Given the description of an element on the screen output the (x, y) to click on. 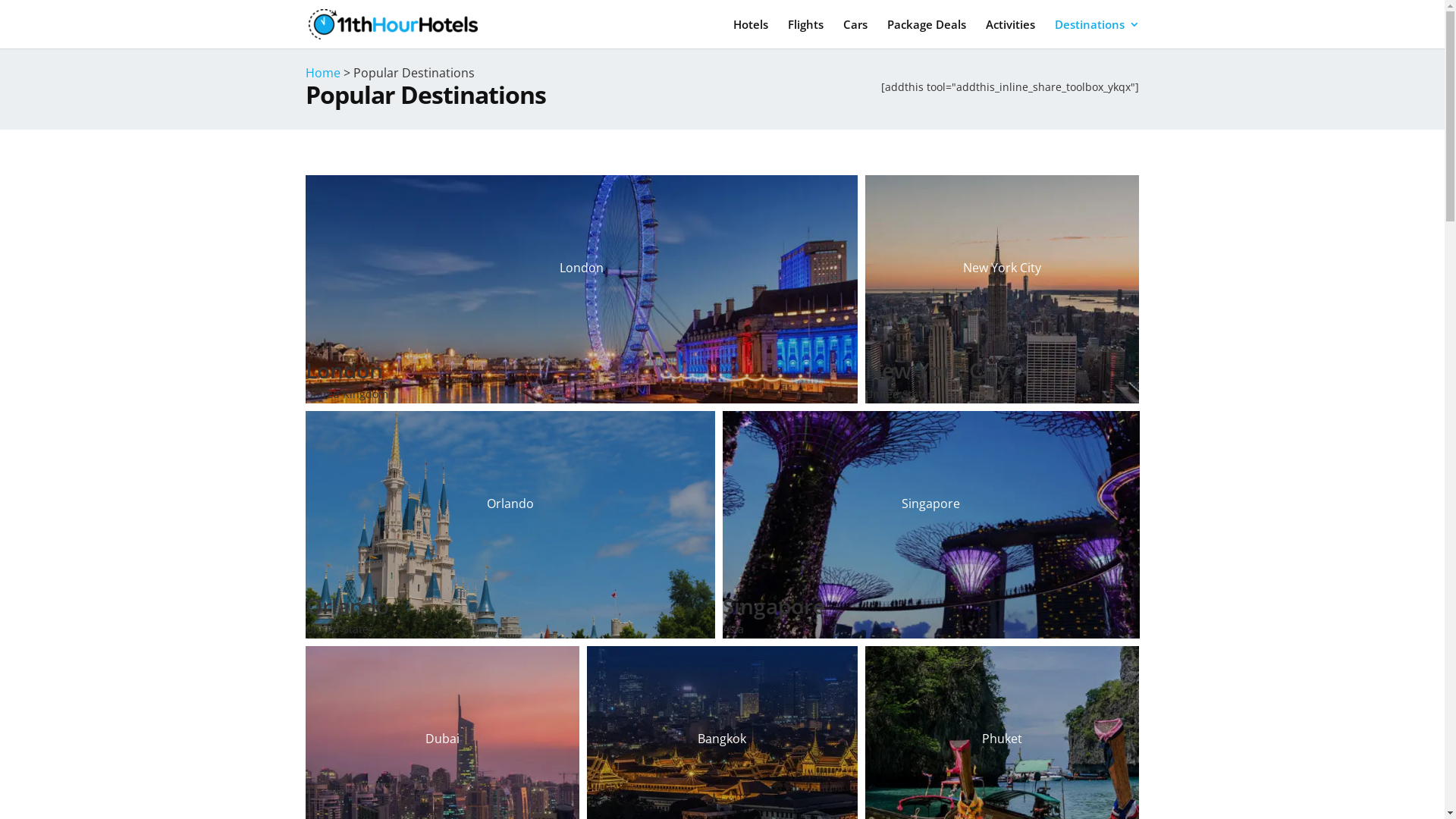
New York City Element type: text (1002, 267)
Singapore Element type: text (930, 503)
Flights Element type: text (804, 33)
Orlando Element type: text (509, 503)
Home Element type: text (321, 72)
Activities Element type: text (1010, 33)
Destinations Element type: text (1096, 33)
London Element type: text (580, 267)
Hotels Element type: text (749, 33)
Package Deals Element type: text (926, 33)
Cars Element type: text (855, 33)
